Given the description of an element on the screen output the (x, y) to click on. 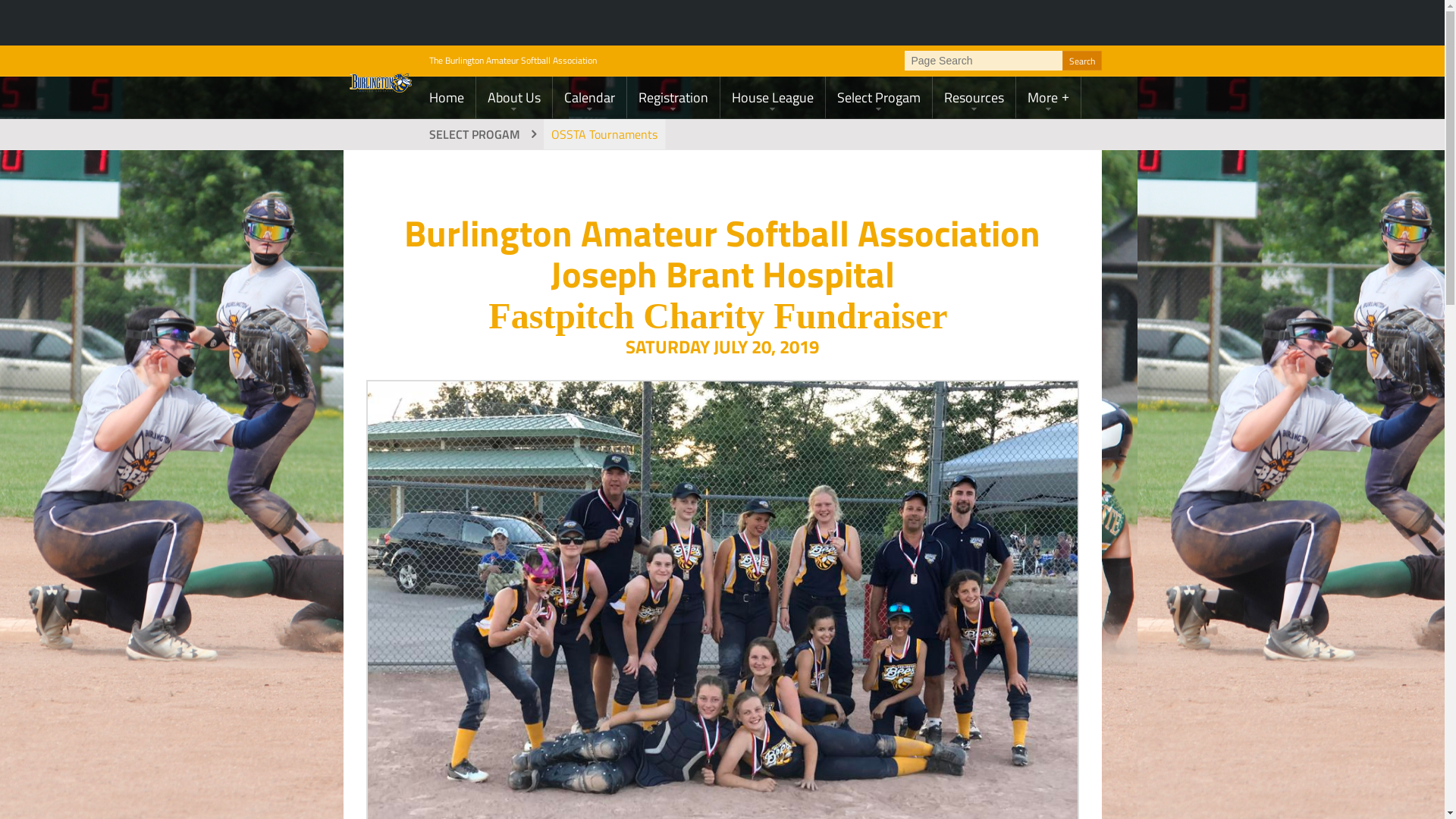
About Us Element type: text (514, 97)
Select Progam Element type: text (878, 97)
Calendar Element type: text (588, 97)
More Element type: text (1048, 97)
SELECT PROGAM Element type: text (480, 134)
Resources Element type: text (973, 97)
Registration Element type: text (672, 97)
House League Element type: text (772, 97)
Home Element type: text (445, 97)
OSSTA Tournaments Element type: text (604, 134)
